Given the description of an element on the screen output the (x, y) to click on. 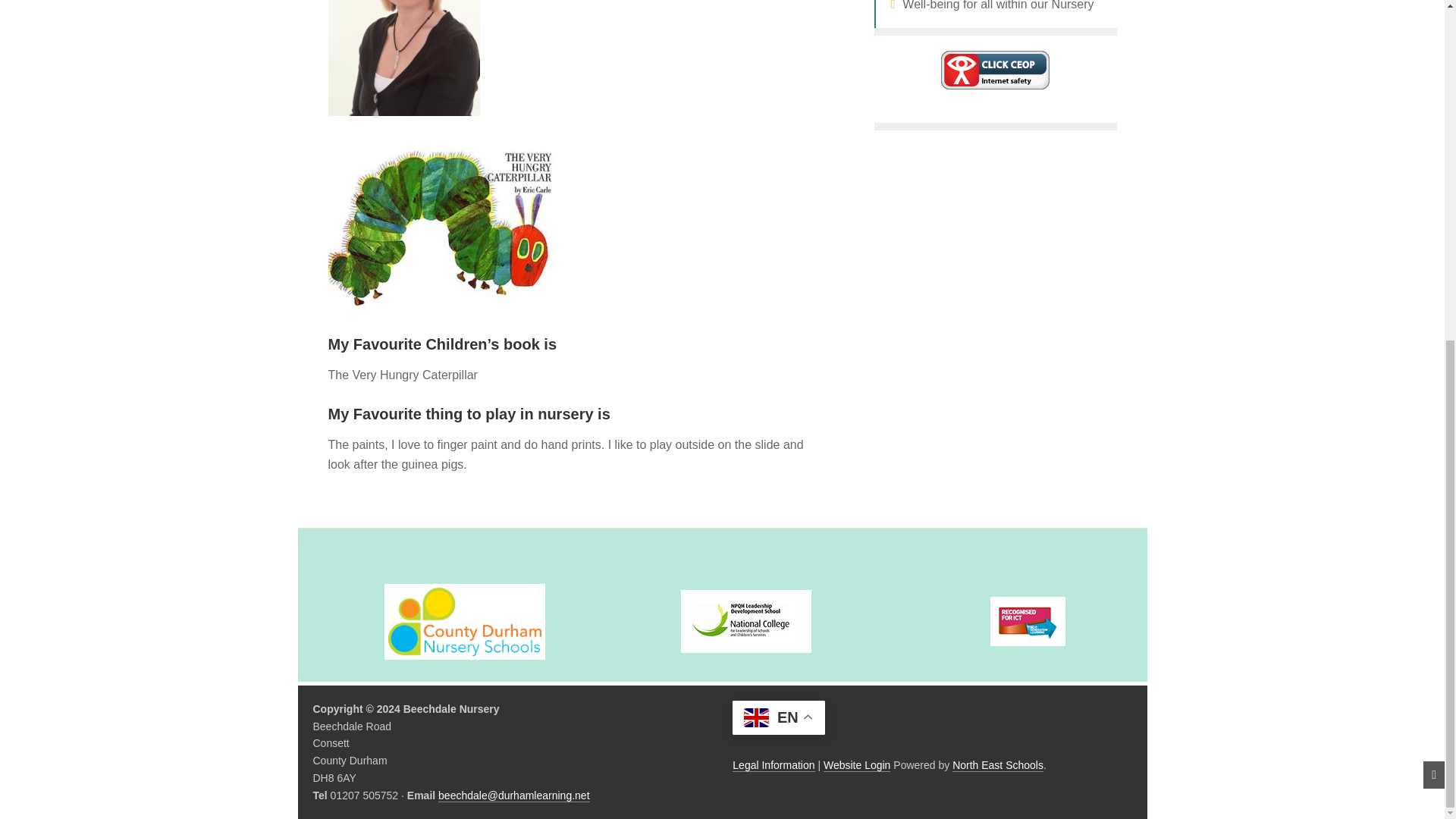
National College (745, 620)
ICT (1027, 621)
CD Nursey Schools (465, 621)
